Given the description of an element on the screen output the (x, y) to click on. 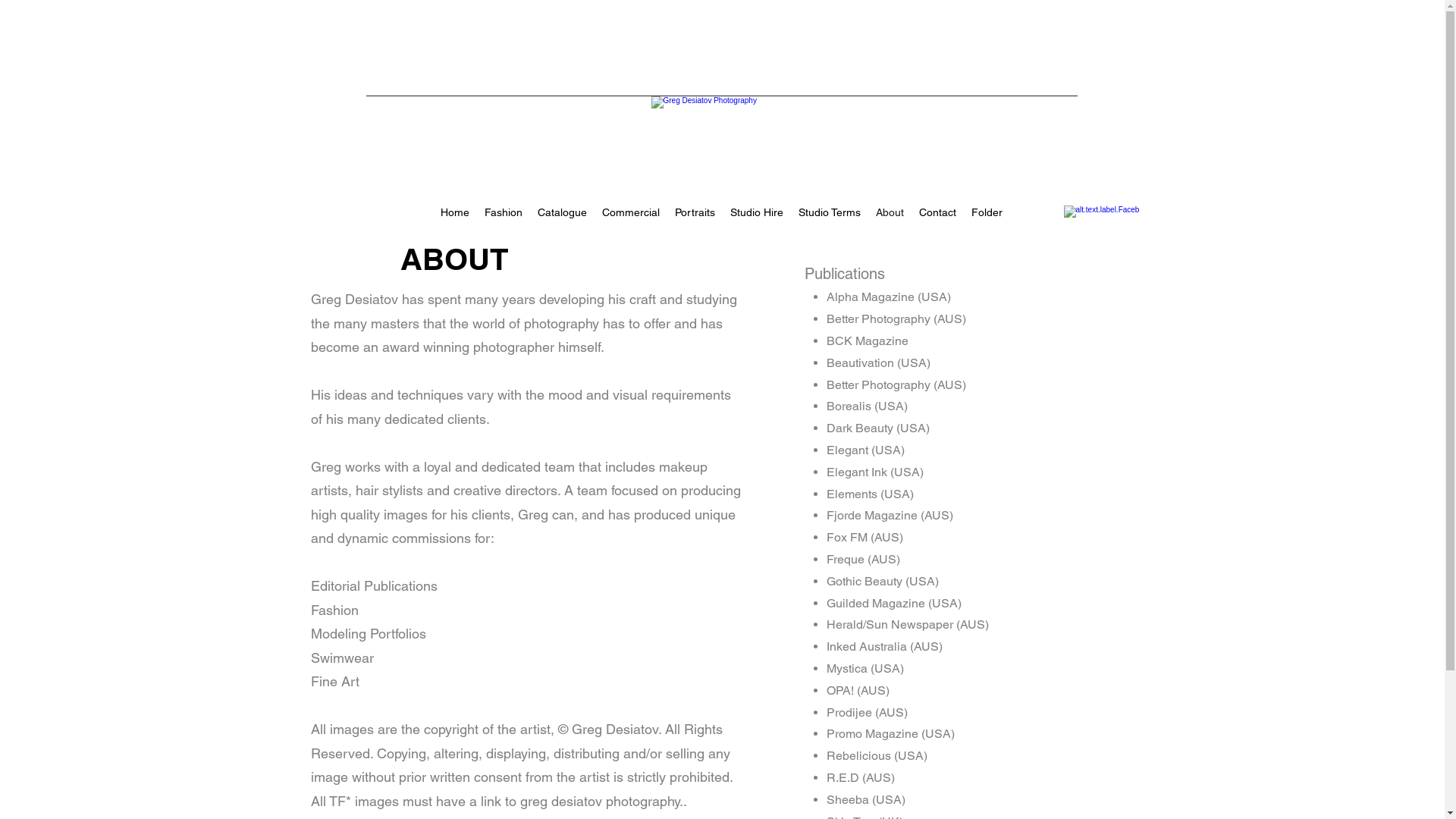
Catalogue Element type: text (562, 211)
About Element type: text (889, 211)
Portraits Element type: text (694, 211)
Embedded Content Element type: hover (436, 46)
Studio Terms Element type: text (829, 211)
Commercial Element type: text (630, 211)
Fashion Element type: text (503, 211)
Studio Hire Element type: text (756, 211)
Home Element type: text (454, 211)
Contact Element type: text (937, 211)
